Given the description of an element on the screen output the (x, y) to click on. 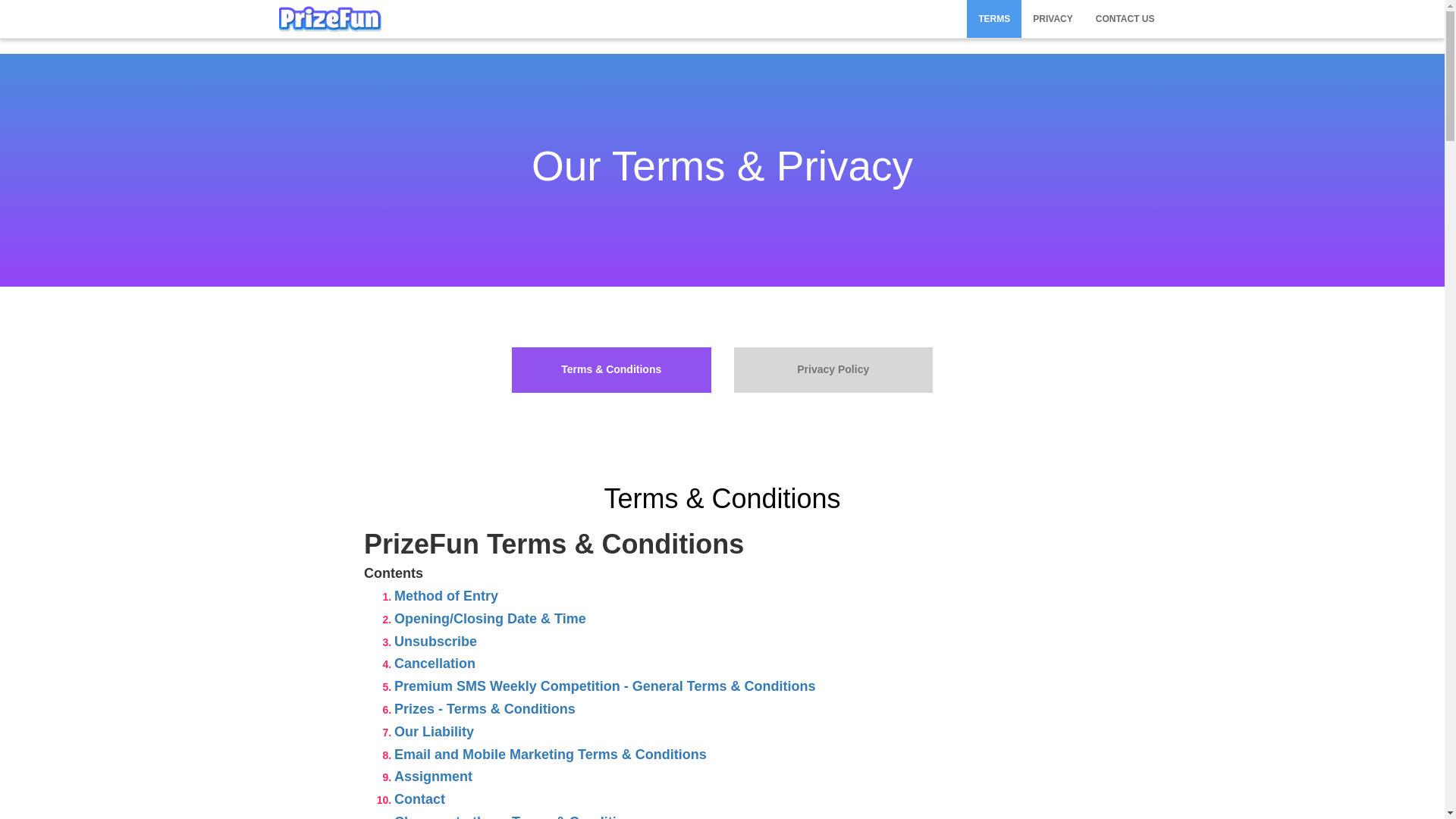
Unsubscribe (435, 641)
Our Liability (434, 731)
TERMS (994, 18)
Method of Entry (445, 595)
CONTACT US (1125, 18)
PRIVACY (1052, 18)
Contact (419, 798)
Cancellation (435, 663)
Assignment (432, 776)
Privacy Policy (833, 370)
